Given the description of an element on the screen output the (x, y) to click on. 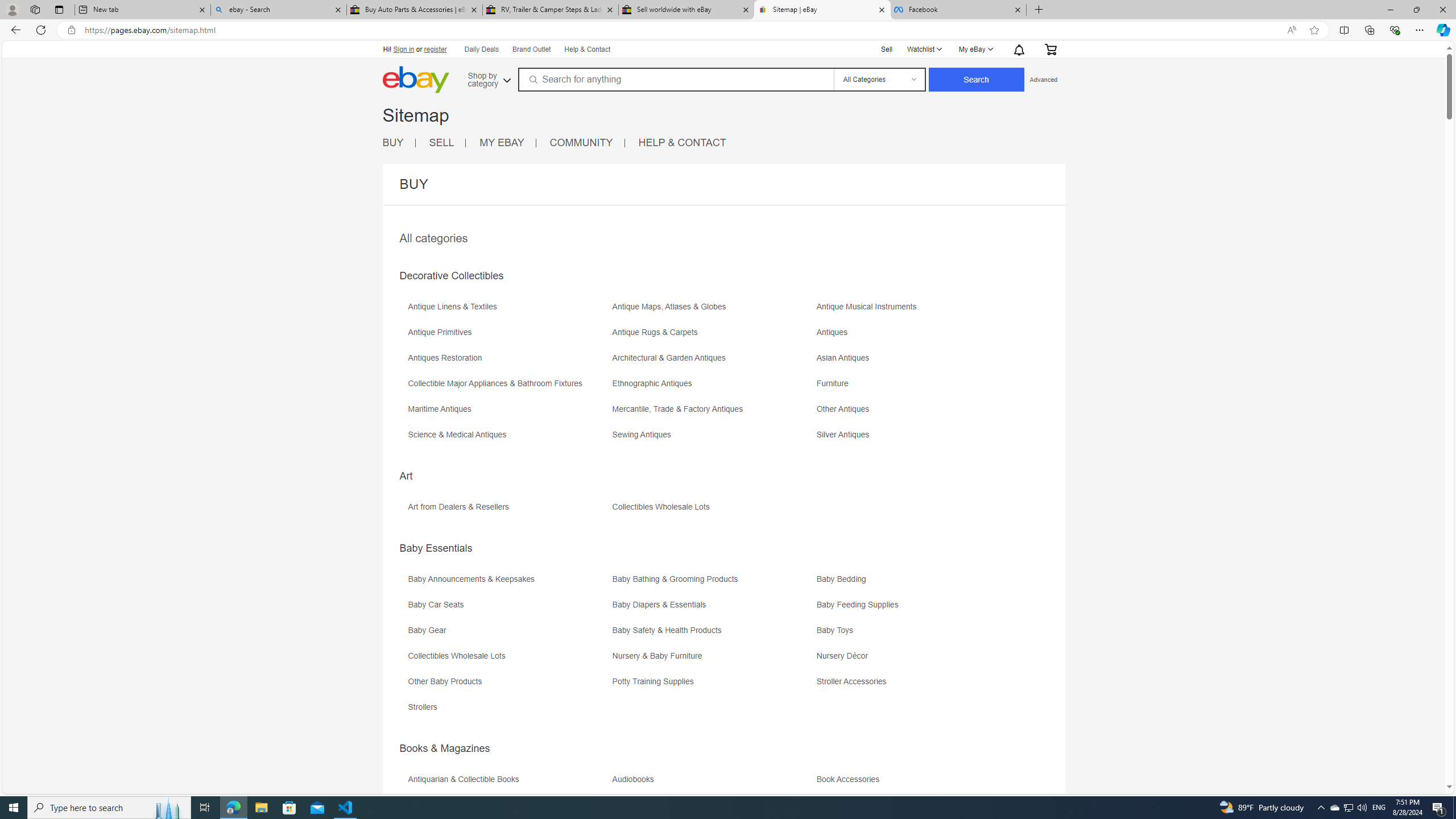
Stroller Accessories (854, 681)
My eBay (975, 49)
Stroller Accessories (917, 685)
Silver Antiques (845, 434)
SELL (441, 142)
Mercantile, Trade & Factory Antiques (712, 412)
Daily Deals (480, 49)
Other Antiques (845, 408)
